Given the description of an element on the screen output the (x, y) to click on. 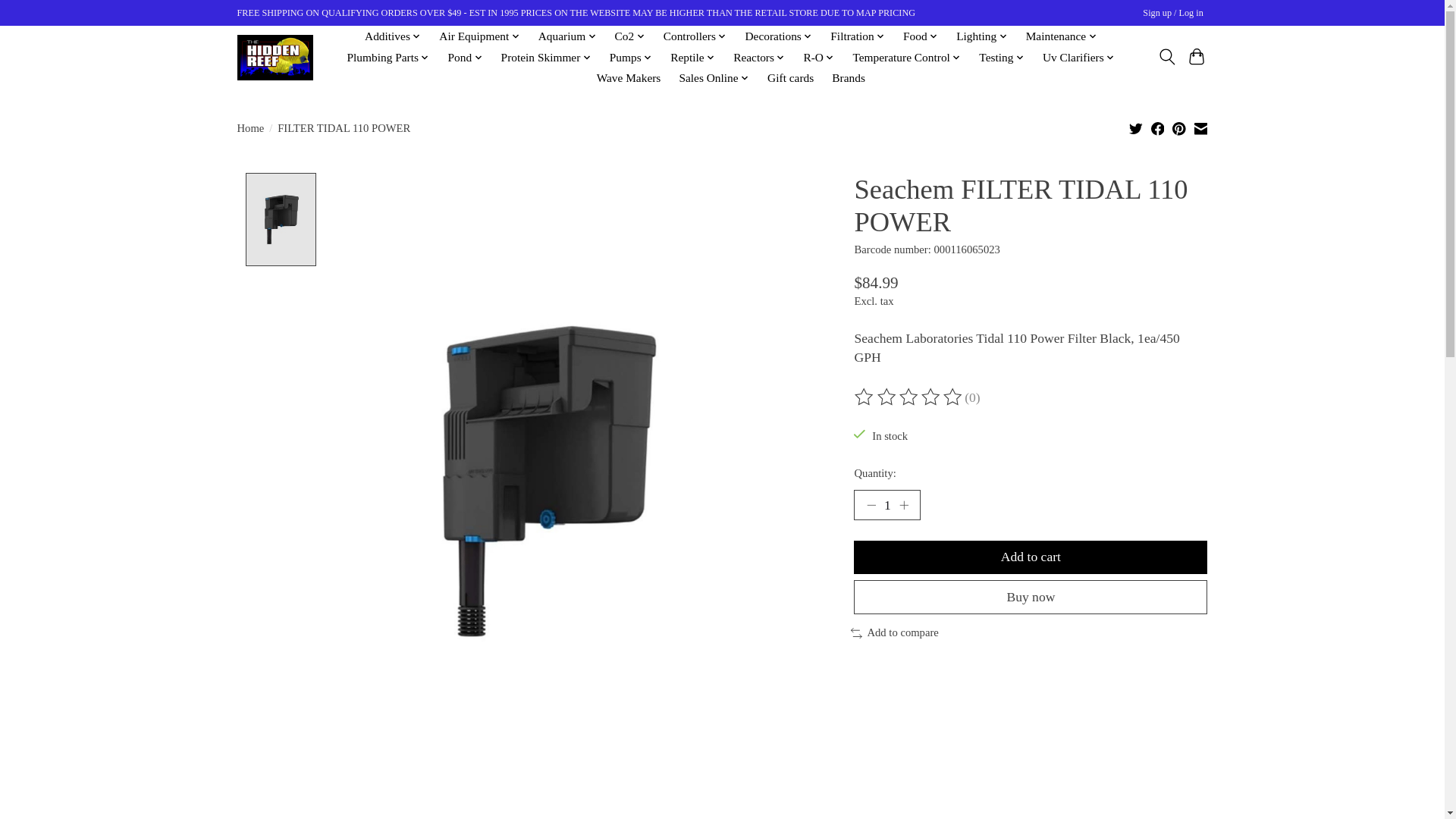
1 (886, 504)
Additives (392, 35)
My account (1173, 13)
Air Equipment (479, 35)
The Hidden Reef, Inc (274, 57)
